Given the description of an element on the screen output the (x, y) to click on. 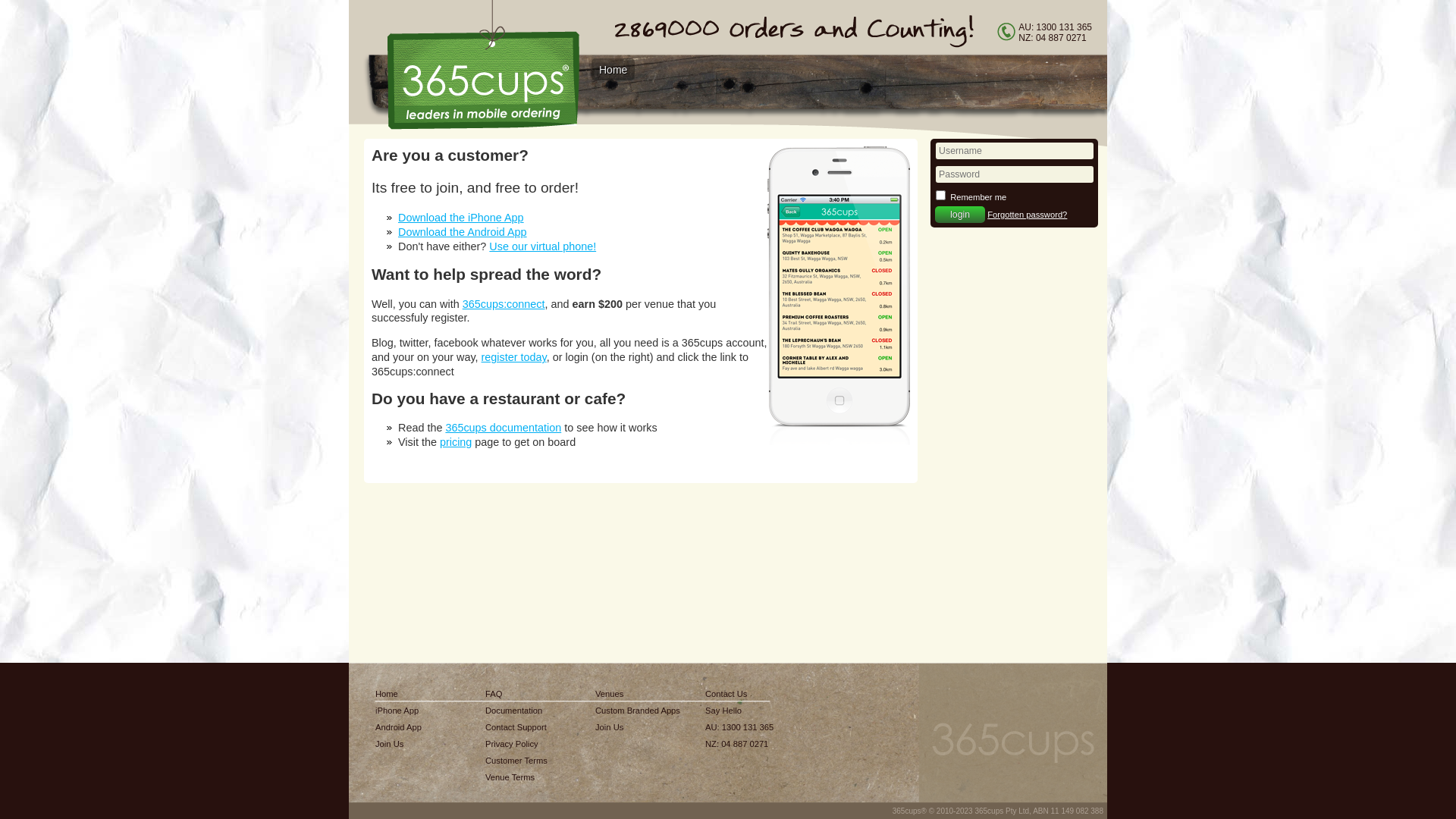
Use our virtual phone! Element type: text (542, 246)
Join Us Element type: text (398, 743)
Android App Element type: text (398, 726)
Contact Support Element type: text (516, 726)
Say Hello Element type: text (739, 710)
pricing Element type: text (455, 442)
NZ: 04 887 0271 Element type: text (739, 743)
Home Element type: text (612, 69)
Privacy Policy Element type: text (516, 743)
365cups:connect Element type: text (503, 304)
Documentation Element type: text (516, 710)
Join Us Element type: text (637, 726)
Download the Android App Element type: text (462, 231)
Customer Terms Element type: text (516, 760)
FAQ Element type: text (516, 693)
AU: 1300 131 365 Element type: text (739, 726)
register today Element type: text (513, 357)
Home Element type: text (398, 693)
Forgotten password? Element type: text (1026, 214)
Venue Terms Element type: text (516, 776)
Venues Element type: text (637, 693)
365cups documentation Element type: text (503, 427)
login Element type: text (960, 214)
Contact Us Element type: text (739, 693)
iPhone App Element type: text (398, 710)
Custom Branded Apps Element type: text (637, 710)
Download the iPhone App Element type: text (461, 217)
